Given the description of an element on the screen output the (x, y) to click on. 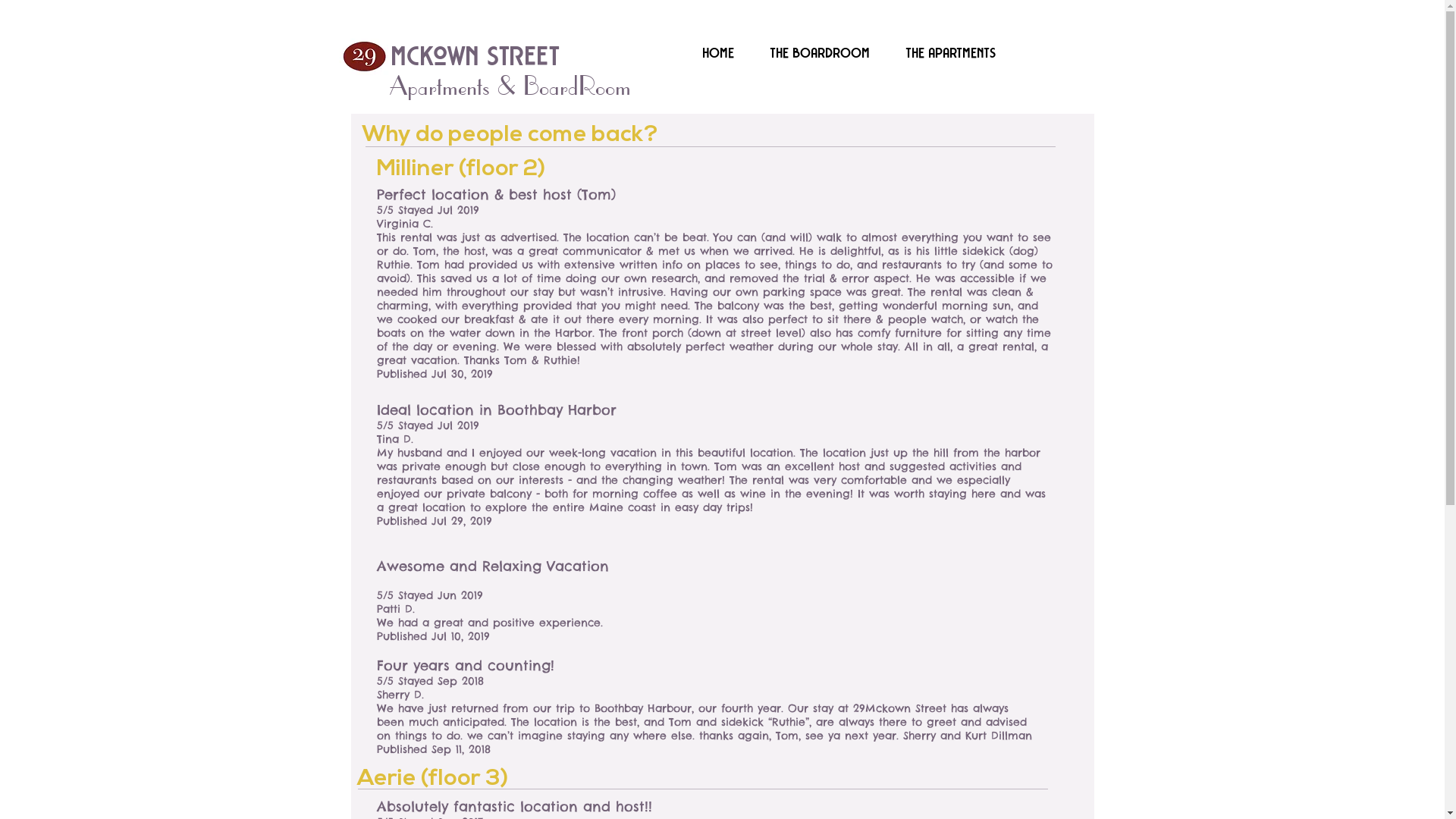
BoardRoom Element type: text (576, 84)
Slide2.jpg Element type: hover (357, 56)
THE BOARDROOM Element type: text (820, 54)
HOME Element type: text (719, 54)
THE APARTMENTS Element type: text (951, 54)
